Given the description of an element on the screen output the (x, y) to click on. 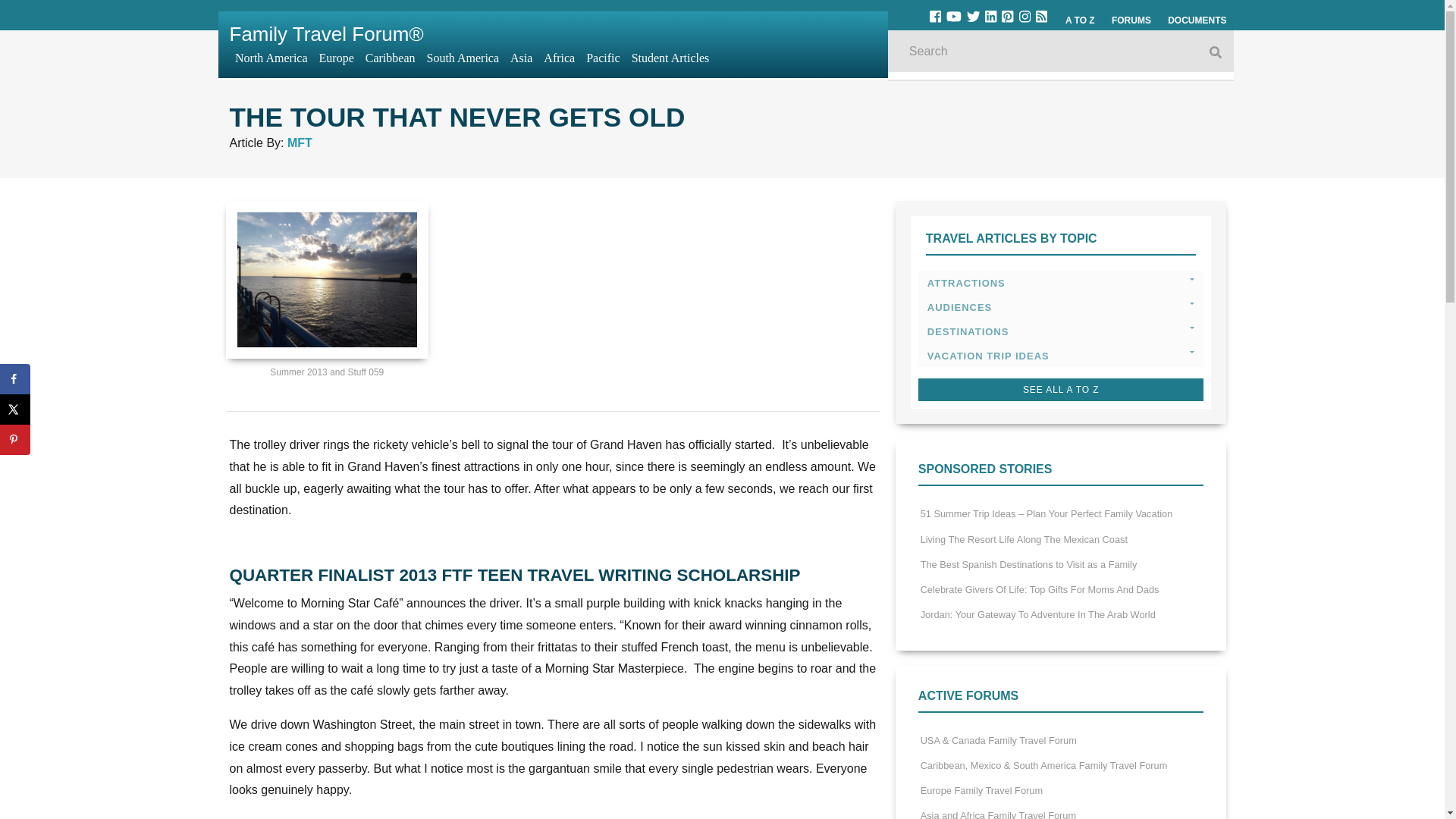
Travel Documents (1196, 20)
Forums (1131, 20)
ATTRACTIONS (1061, 282)
AUDIENCES (1061, 306)
Family Travel Forum (325, 33)
MFT (299, 142)
DESTINATIONS (1061, 331)
A to Z Links (1079, 20)
